Given the description of an element on the screen output the (x, y) to click on. 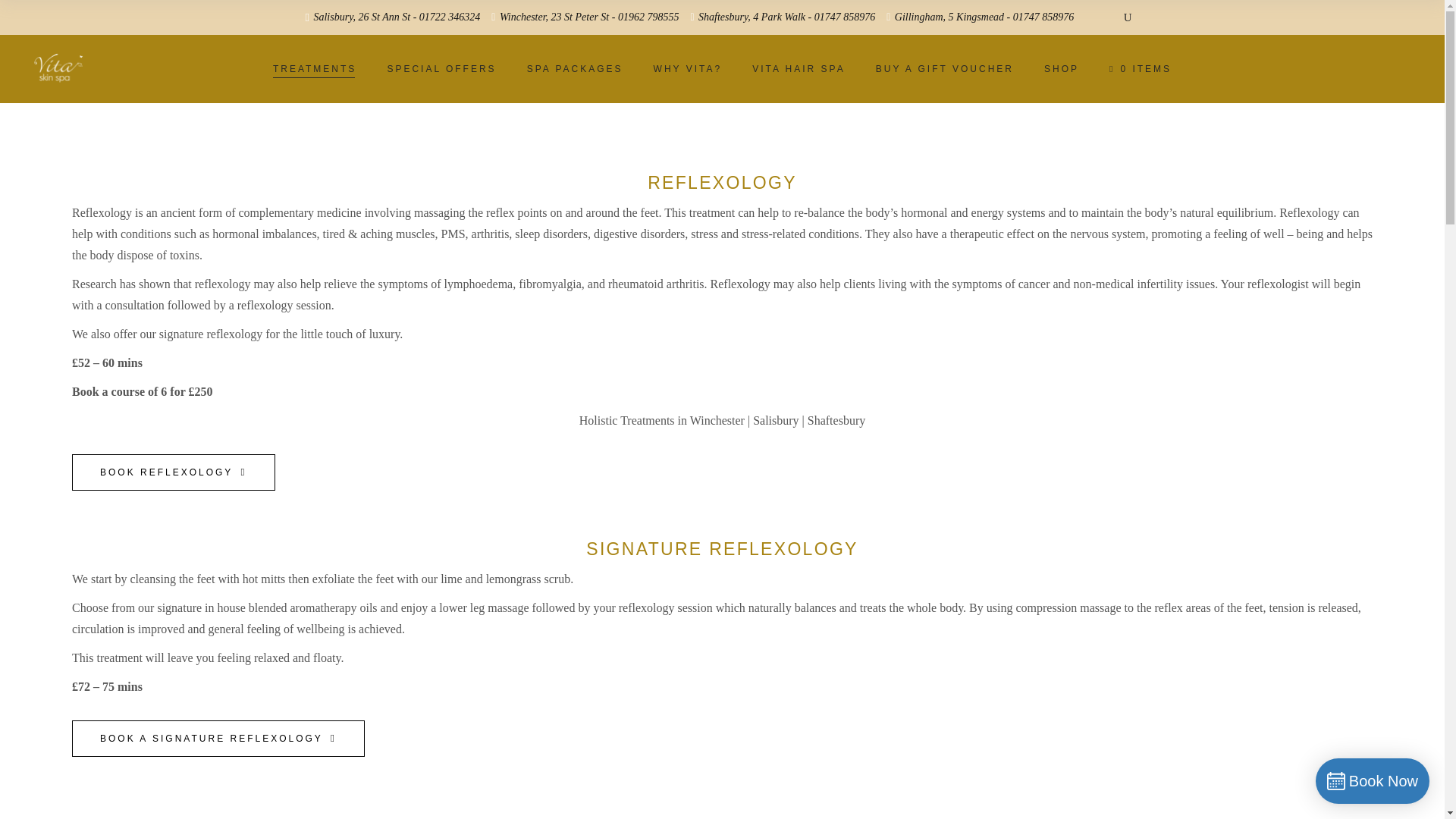
TREATMENTS (314, 68)
SPECIAL OFFERS (441, 68)
Salisbury, 26 St Ann St - 01722 346324 (392, 16)
Winchester, 23 St Peter St - 01962 798555 (585, 17)
WHY VITA? (688, 68)
Gillingham, 5 Kingsmead - 01747 858976 (980, 17)
Shaftesbury, 4 Park Walk - 01747 858976 (782, 17)
SPA PACKAGES (575, 68)
Start shopping (1140, 68)
